Given the description of an element on the screen output the (x, y) to click on. 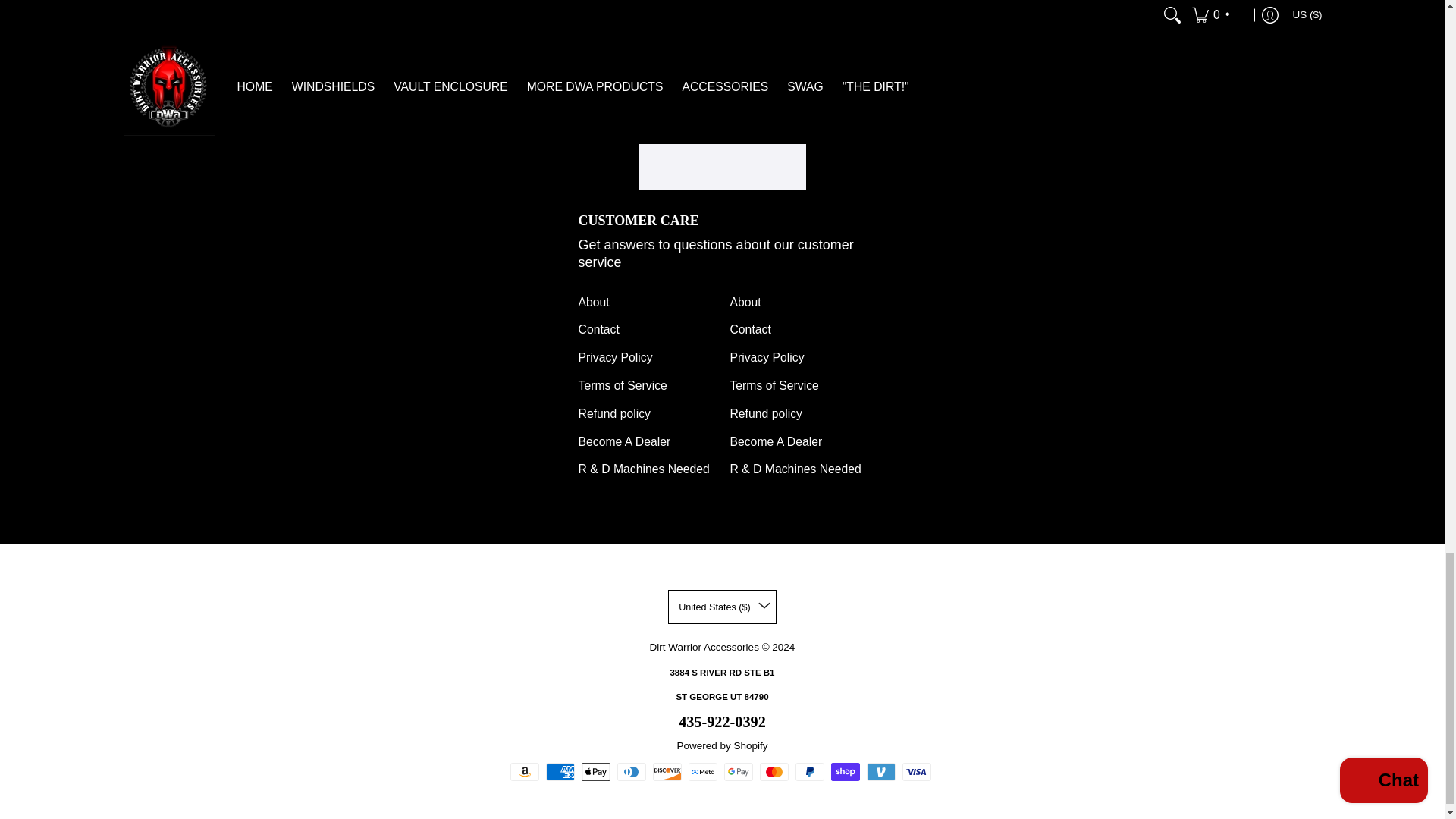
Discover (666, 771)
Mastercard (774, 771)
Meta Pay (702, 771)
Shop Pay (845, 771)
Apple Pay (595, 771)
Google Pay (737, 771)
Venmo (880, 771)
Visa (916, 771)
Amazon (524, 771)
Diners Club (631, 771)
